Given the description of an element on the screen output the (x, y) to click on. 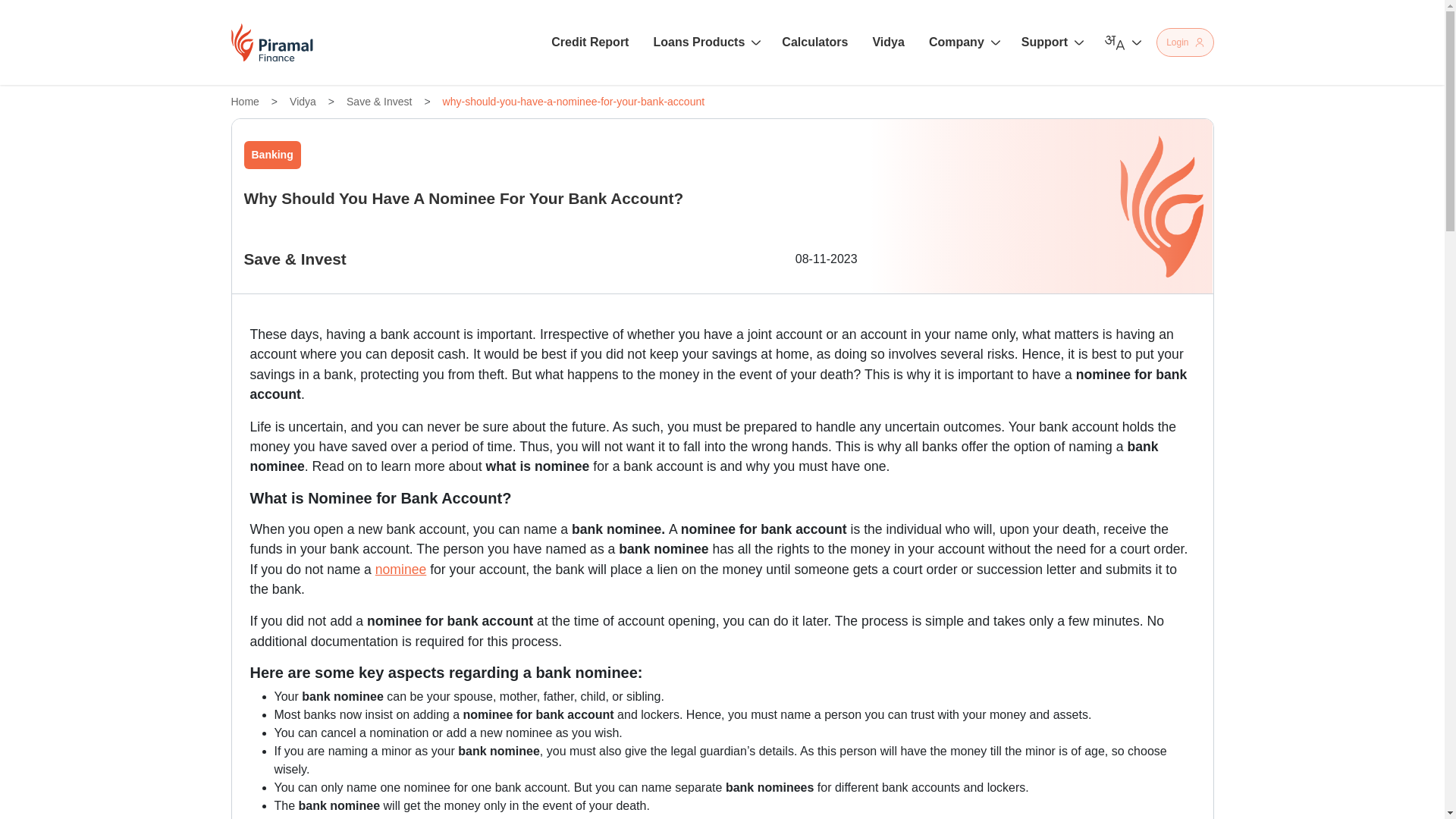
Credit Report (589, 42)
Vidya (888, 42)
Support (1050, 42)
Company (963, 42)
Calculators (814, 42)
Loans Products (704, 42)
